Given the description of an element on the screen output the (x, y) to click on. 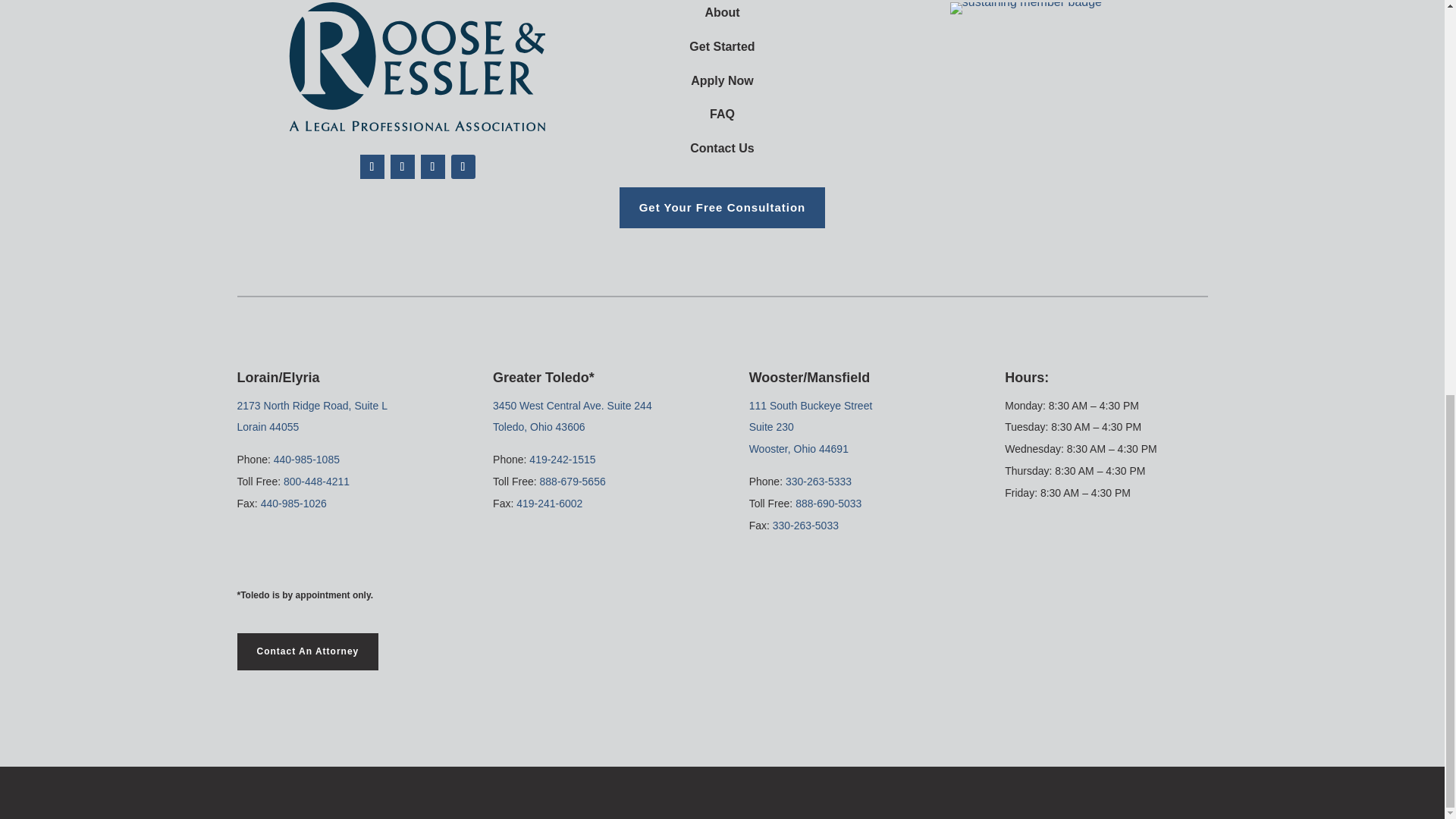
3450 West Central Ave. Suite 244 (572, 405)
800-448-4211 (316, 481)
Get Your Free Consultation (722, 207)
440-985-1085 (306, 459)
About (721, 11)
Follow on LinkedIn (432, 166)
Member-Badge-Small-4-Sustaining-Member-1 (1026, 8)
Get Started (721, 46)
440-985-1026 (293, 503)
Follow on Instagram (463, 166)
